Given the description of an element on the screen output the (x, y) to click on. 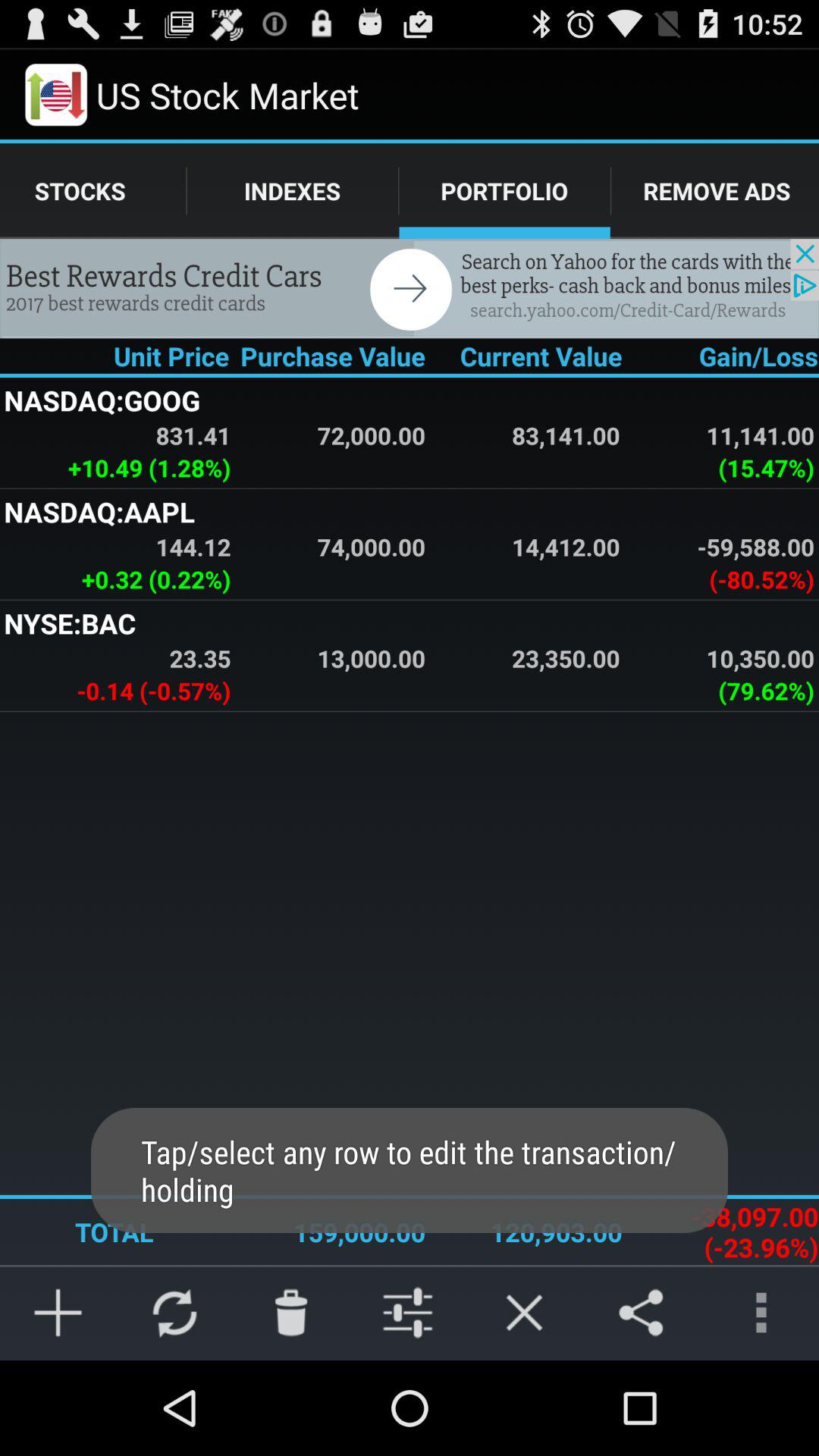
this protfolio next page (409, 288)
